Given the description of an element on the screen output the (x, y) to click on. 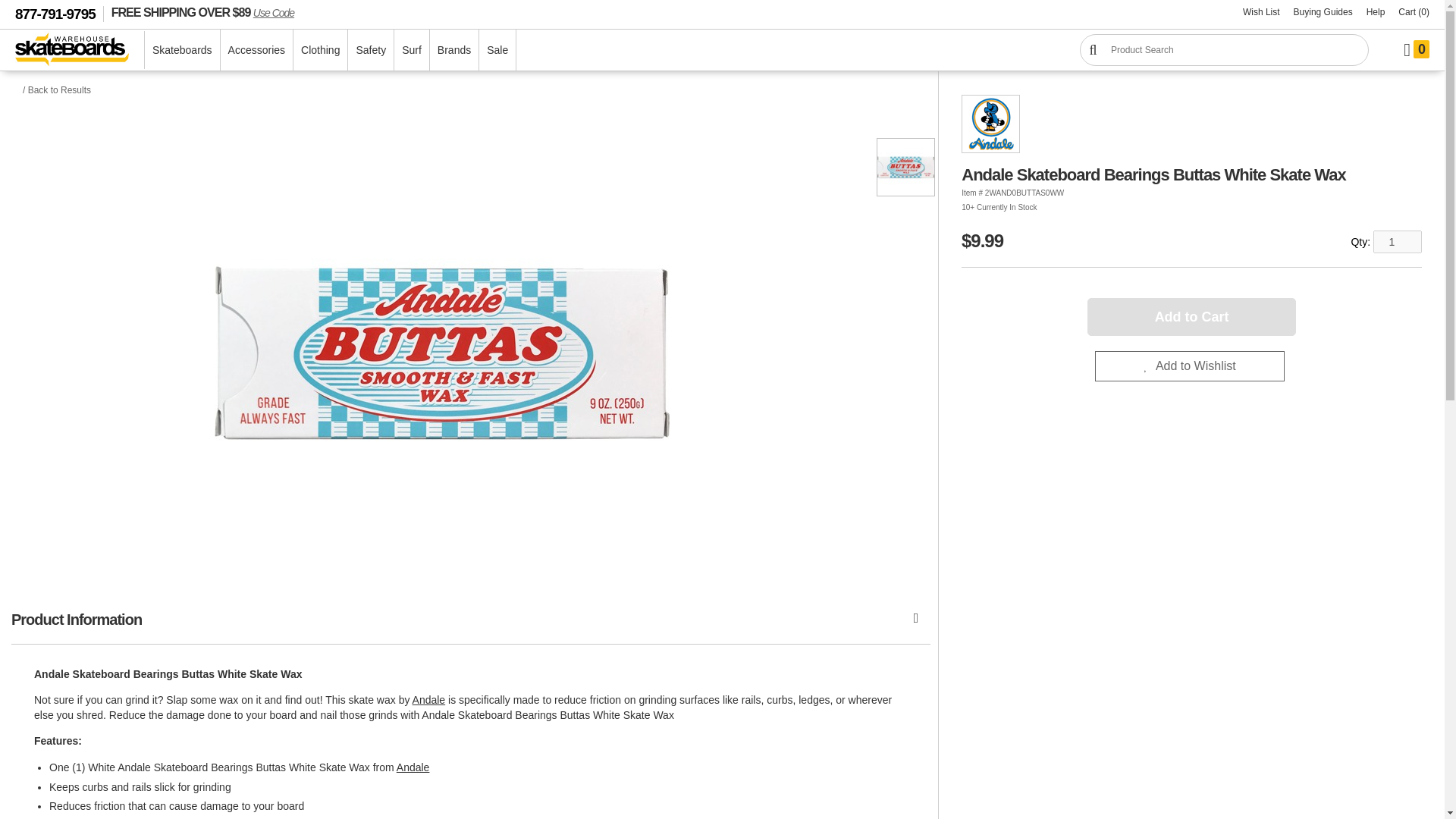
Wish List (1261, 12)
Contact Warehouse Skateboards Customer Service (1375, 12)
877-791-9795 (58, 13)
Everything you need to know about Skateboards (1323, 12)
Skateboards (181, 49)
View Your Wish List (1261, 12)
Buying Guides (1323, 12)
1 (1397, 241)
Accessories (256, 49)
